Given the description of an element on the screen output the (x, y) to click on. 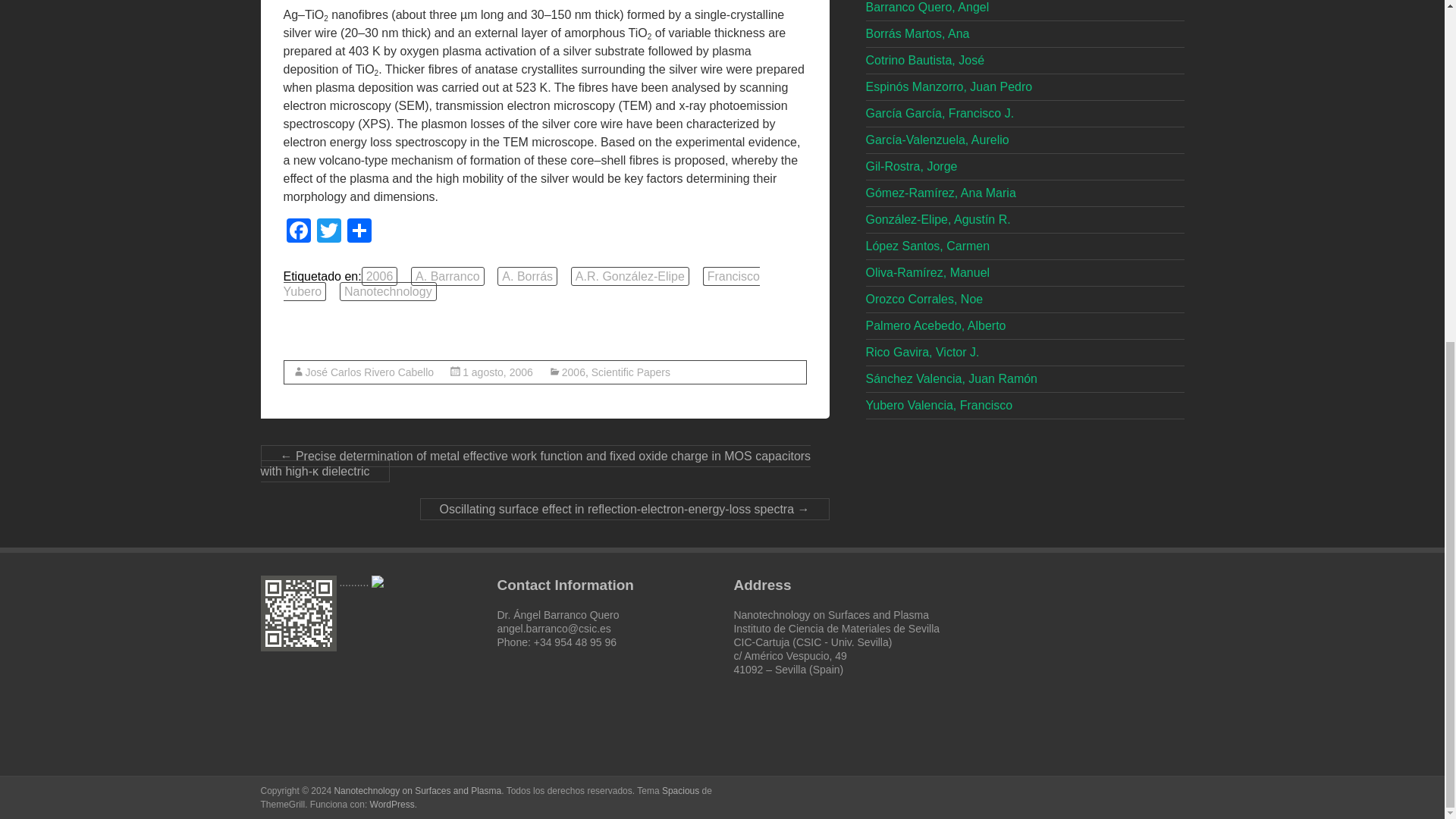
WordPress (391, 804)
Nanotechnology on Surfaces and Plasma (416, 790)
Twitter (328, 232)
Spacious (680, 790)
Facebook (298, 232)
7:12 am (497, 372)
